Given the description of an element on the screen output the (x, y) to click on. 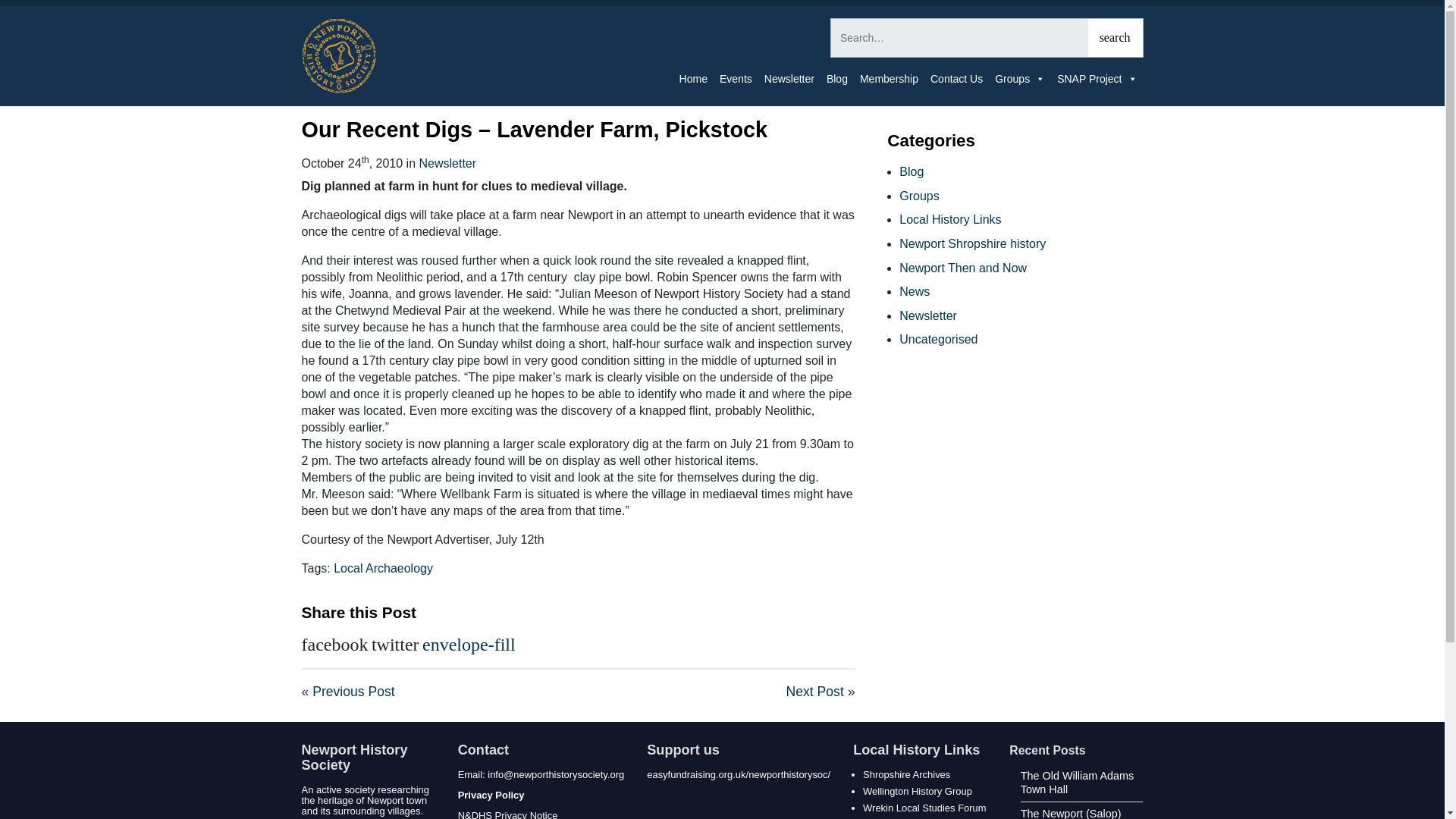
Next Post (816, 691)
Email (468, 643)
Blog (837, 78)
Groups (919, 195)
Newsletter (789, 78)
News (914, 291)
Newport Then and Now (962, 267)
Contact Us (956, 78)
Local History Links (950, 219)
Home (692, 78)
Local Archaeology (382, 567)
Newport Shropshire history (972, 243)
Wellington History Group (917, 790)
Share on Twitter (395, 643)
Groups (1019, 78)
